Given the description of an element on the screen output the (x, y) to click on. 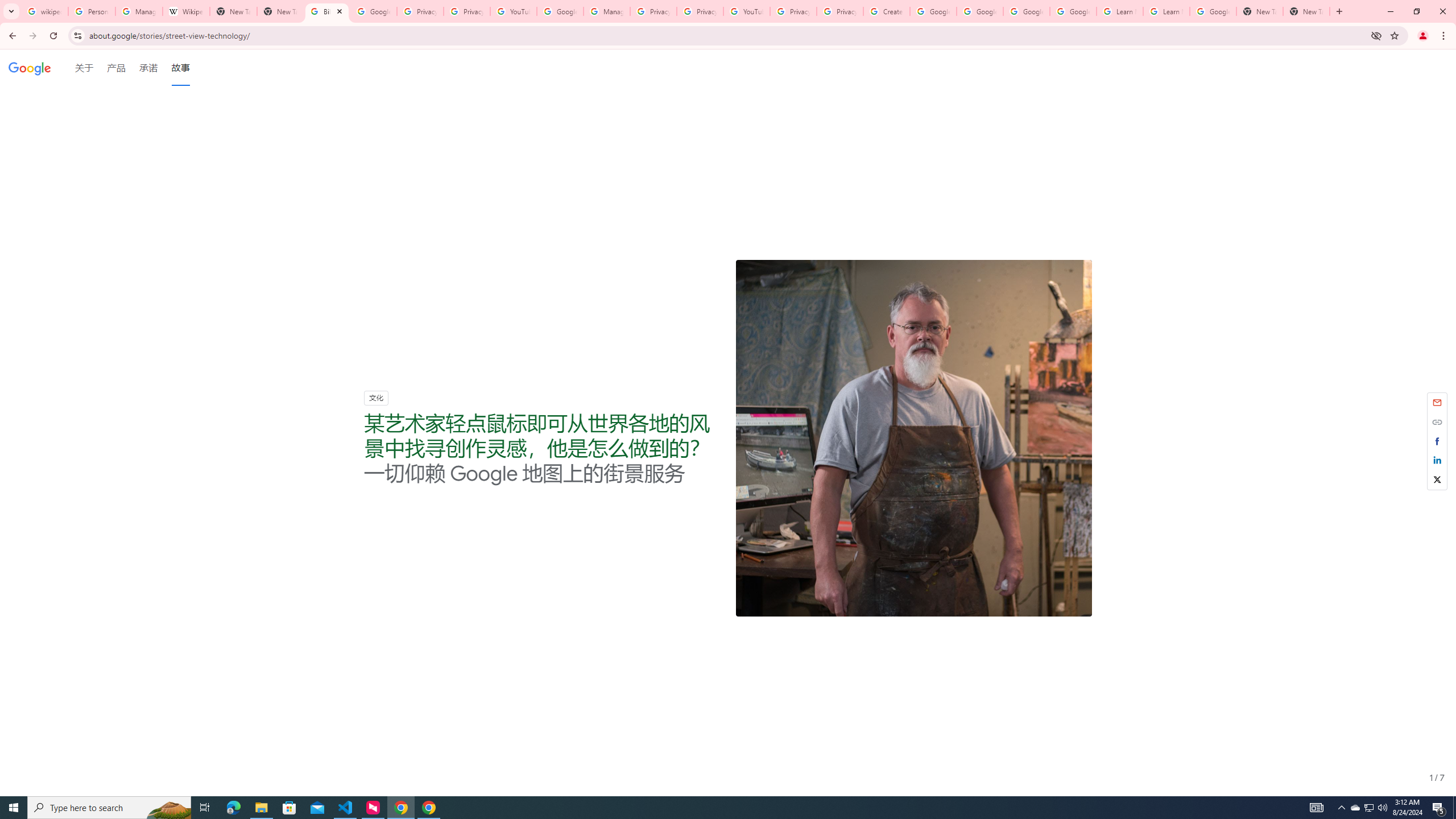
Manage your Location History - Google Search Help (138, 11)
